Given the description of an element on the screen output the (x, y) to click on. 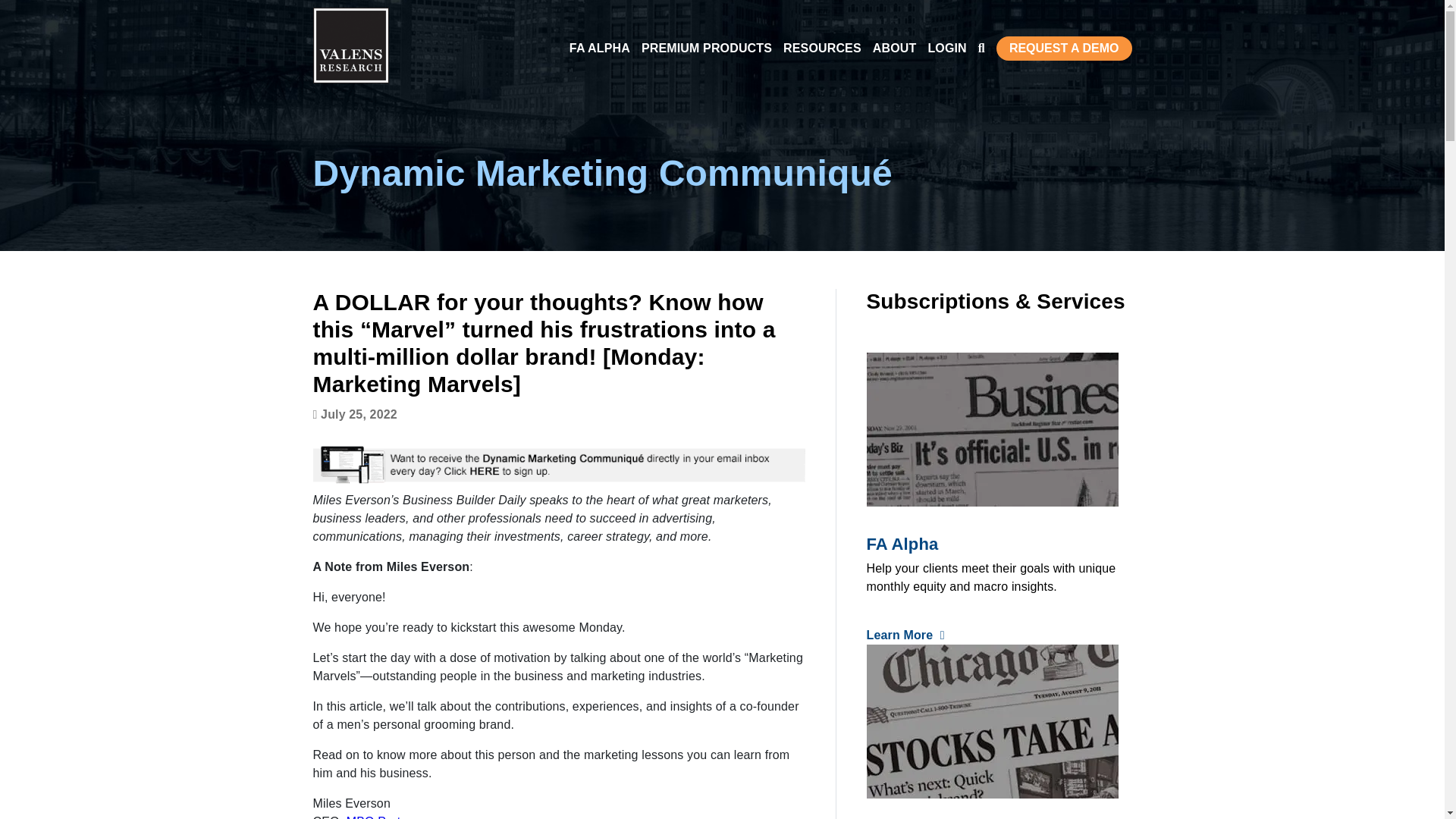
LOGIN (946, 47)
MBO Partners (385, 816)
FA ALPHA (599, 47)
REQUEST A DEMO (1063, 48)
ABOUT (894, 47)
RESOURCES (822, 47)
PREMIUM PRODUCTS (706, 47)
